Given the description of an element on the screen output the (x, y) to click on. 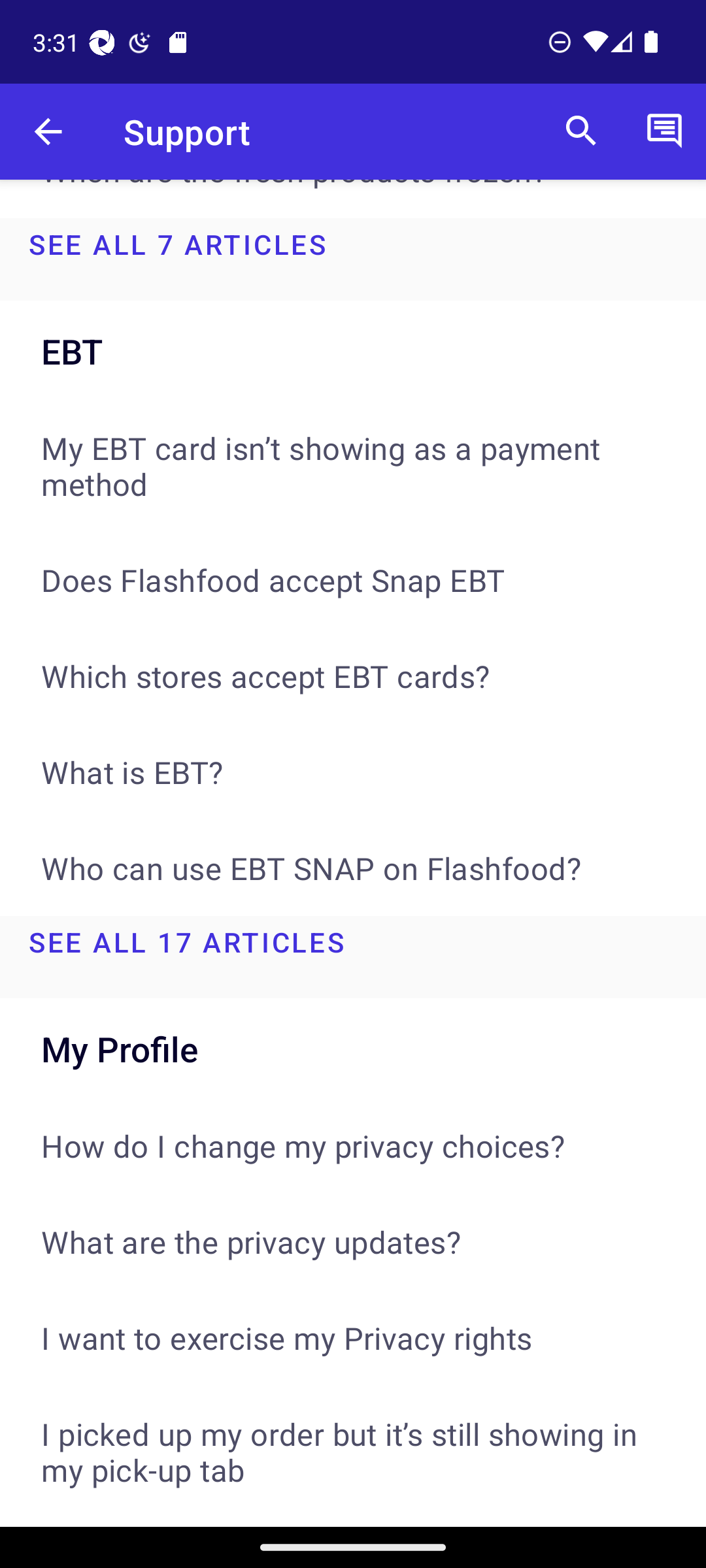
Navigate up (48, 131)
Search (581, 131)
Conversations (664, 131)
SEE ALL 7 ARTICLES (353, 259)
My EBT card isn’t showing as a payment method (353, 465)
Does Flashfood accept Snap EBT  (353, 579)
Which stores accept EBT cards? (353, 675)
What is EBT? (353, 772)
Who can use EBT SNAP on Flashfood? (353, 867)
SEE ALL 17 ARTICLES (353, 956)
How do I change my privacy choices? (353, 1145)
What are the privacy updates? (353, 1240)
I want to exercise my Privacy rights (353, 1337)
